Given the description of an element on the screen output the (x, y) to click on. 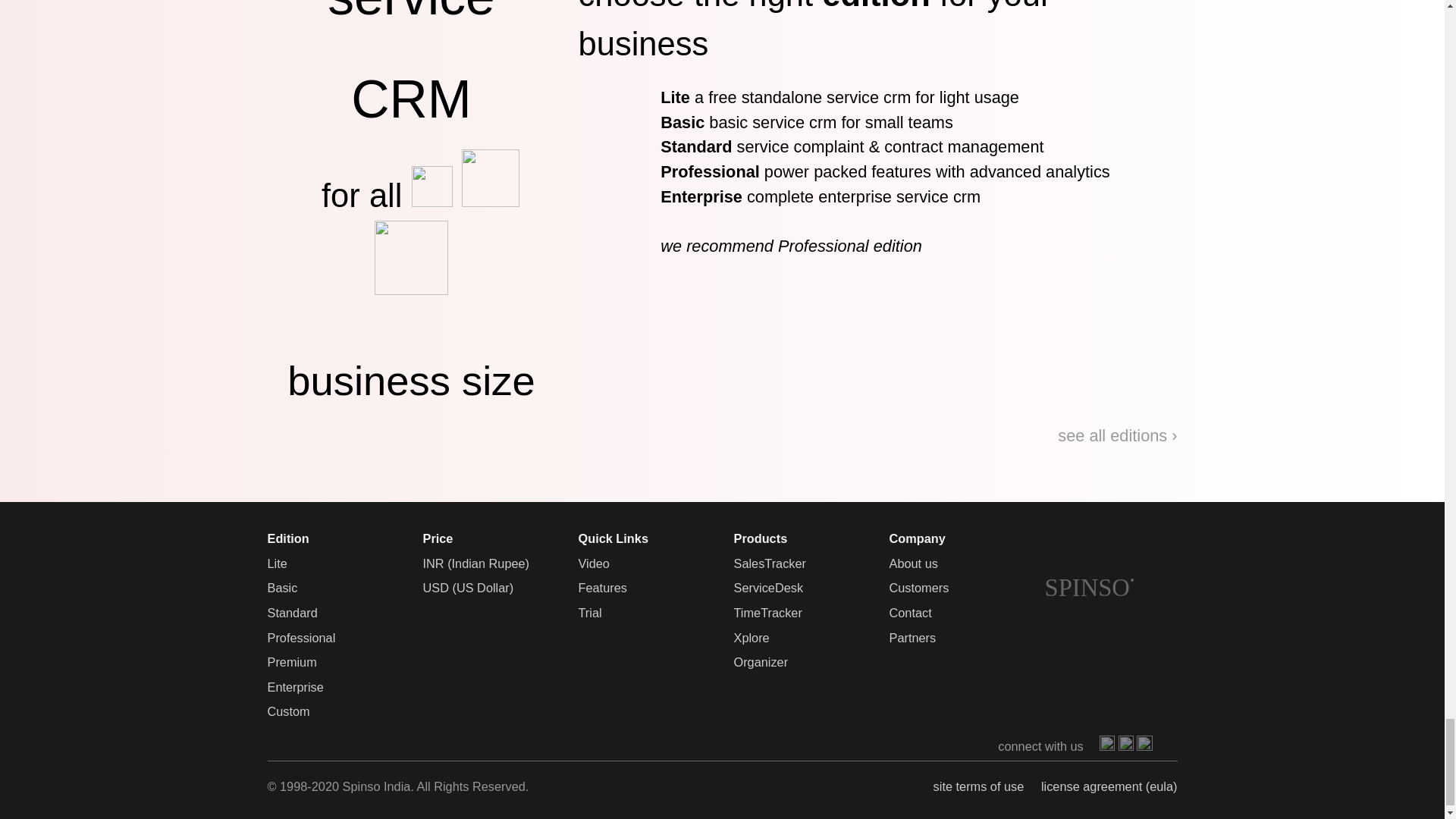
Enterprise complete enterprise service crm (820, 196)
Lite (276, 563)
Lite a free standalone service crm for light usage (840, 97)
Basic basic service crm for small teams (807, 122)
Professional power packed features with advanced analytics (885, 171)
Edition (287, 538)
